Given the description of an element on the screen output the (x, y) to click on. 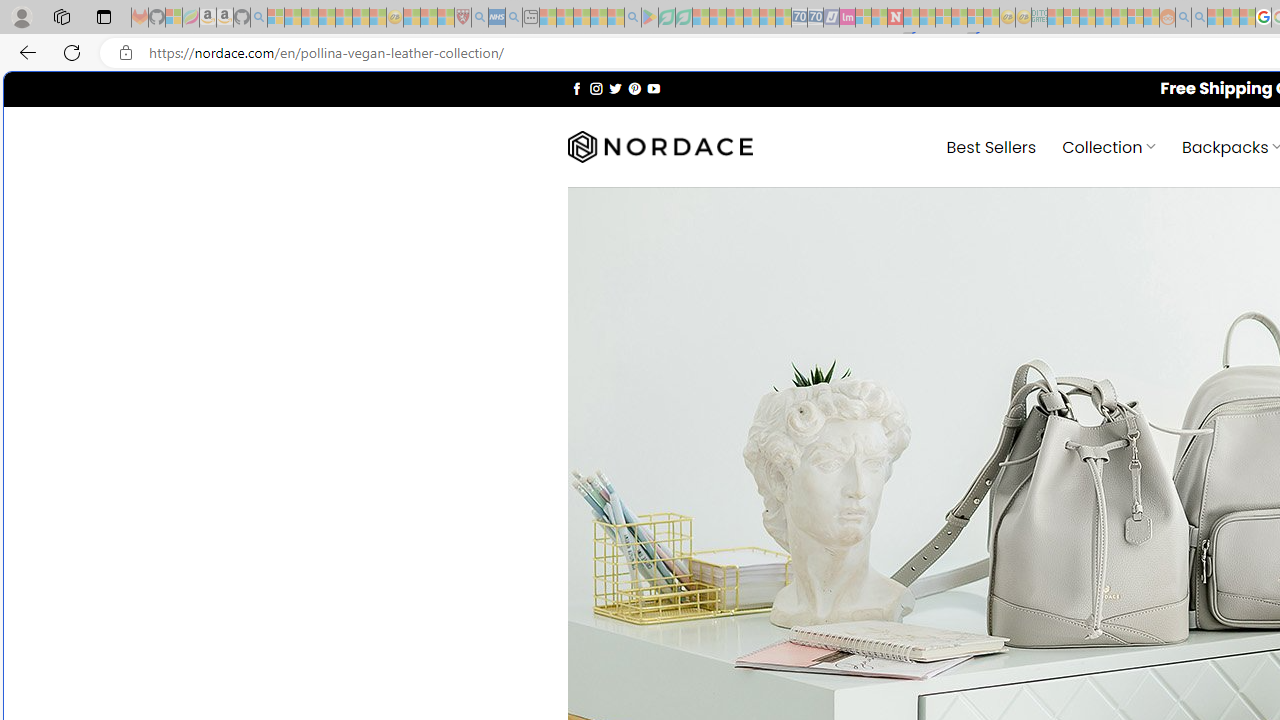
The Weather Channel - MSN - Sleeping (309, 17)
Terms of Use Agreement - Sleeping (666, 17)
Jobs - lastminute.com Investor Portal - Sleeping (847, 17)
Robert H. Shmerling, MD - Harvard Health - Sleeping (462, 17)
Cheap Hotels - Save70.com - Sleeping (815, 17)
Follow on Twitter (615, 88)
